Given the description of an element on the screen output the (x, y) to click on. 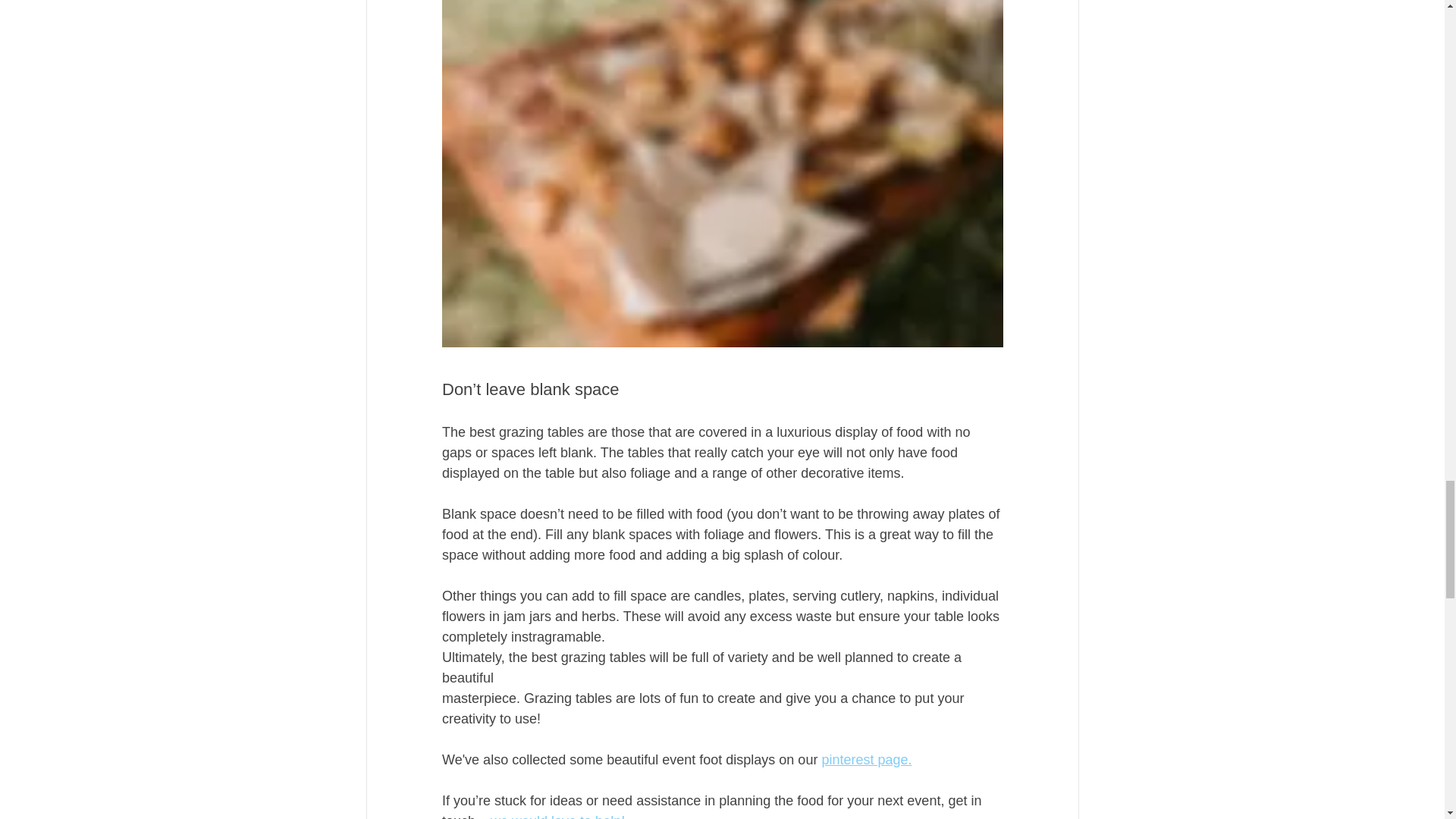
pinterest page. (866, 759)
we would love to help! (557, 816)
